Given the description of an element on the screen output the (x, y) to click on. 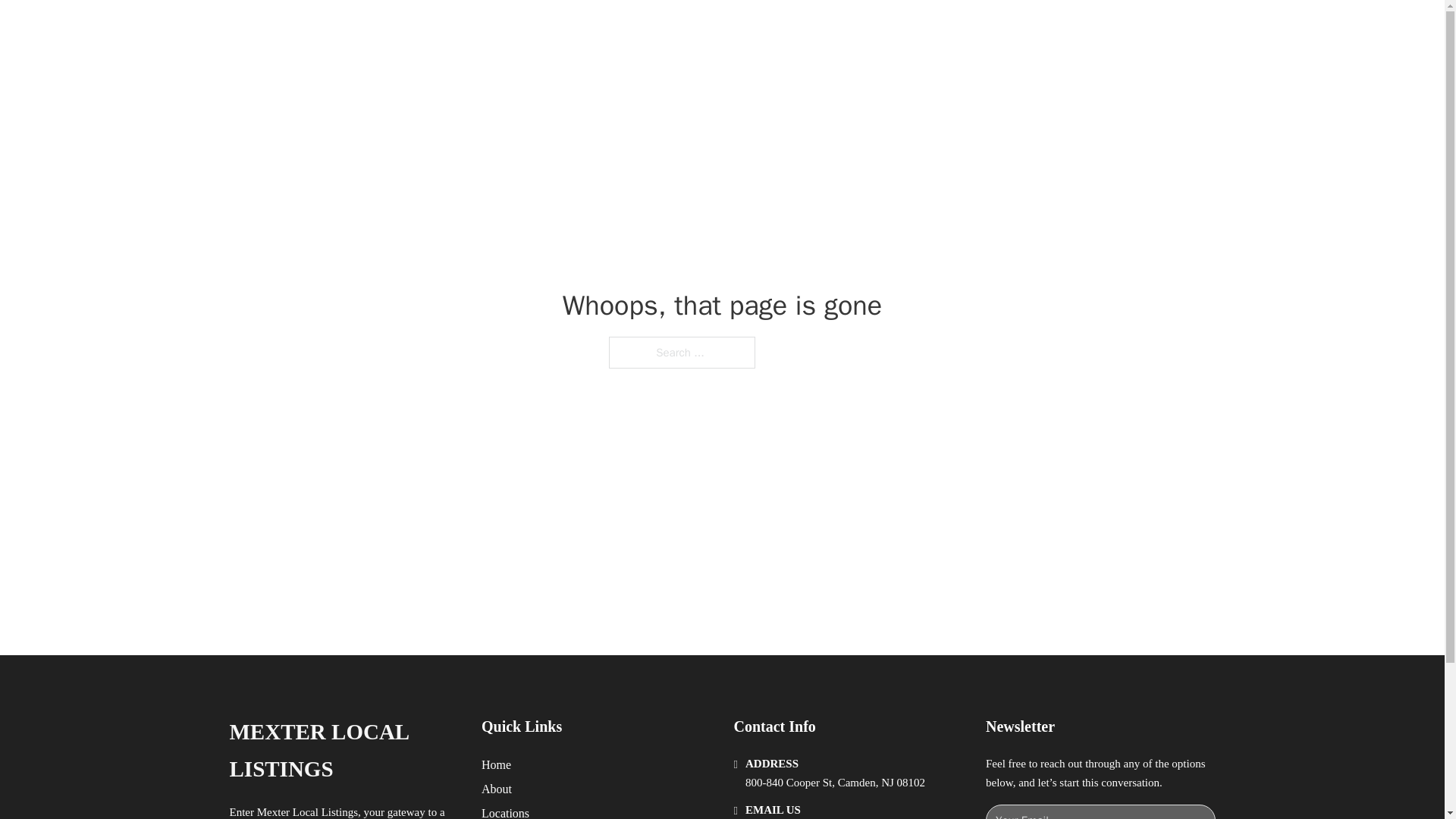
MEXTER LOCAL LISTINGS (343, 750)
Locations (505, 811)
About (1003, 29)
About (496, 788)
Home (496, 764)
MEXTER LOCAL LISTINGS (433, 28)
